Given the description of an element on the screen output the (x, y) to click on. 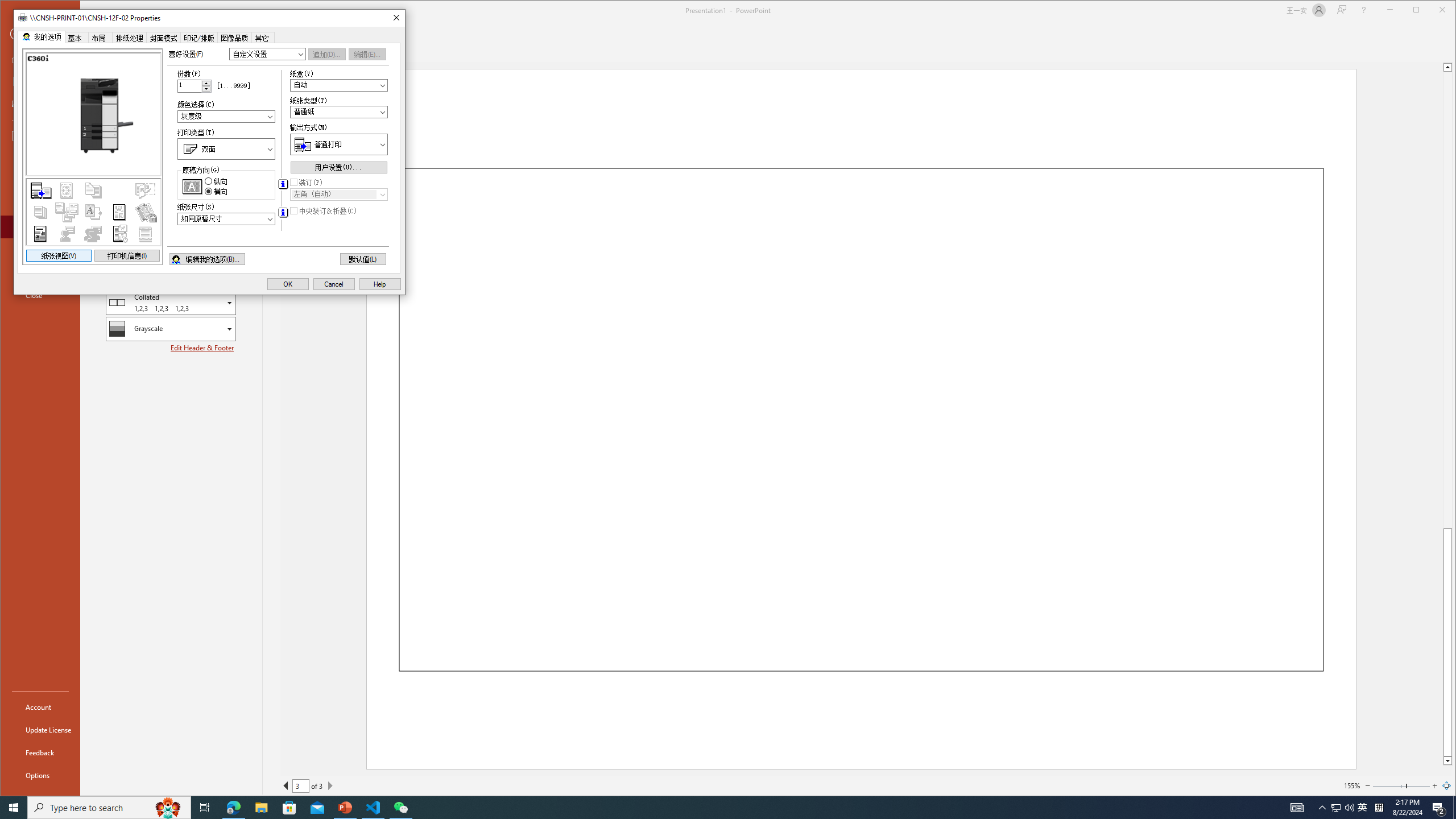
Current Page (300, 785)
AutomationID: 1833 (226, 116)
AutomationID: 1047 (338, 194)
Next Page (329, 785)
Cancel (334, 283)
Feedback (40, 752)
155% (1351, 785)
Summary (93, 211)
